Given the description of an element on the screen output the (x, y) to click on. 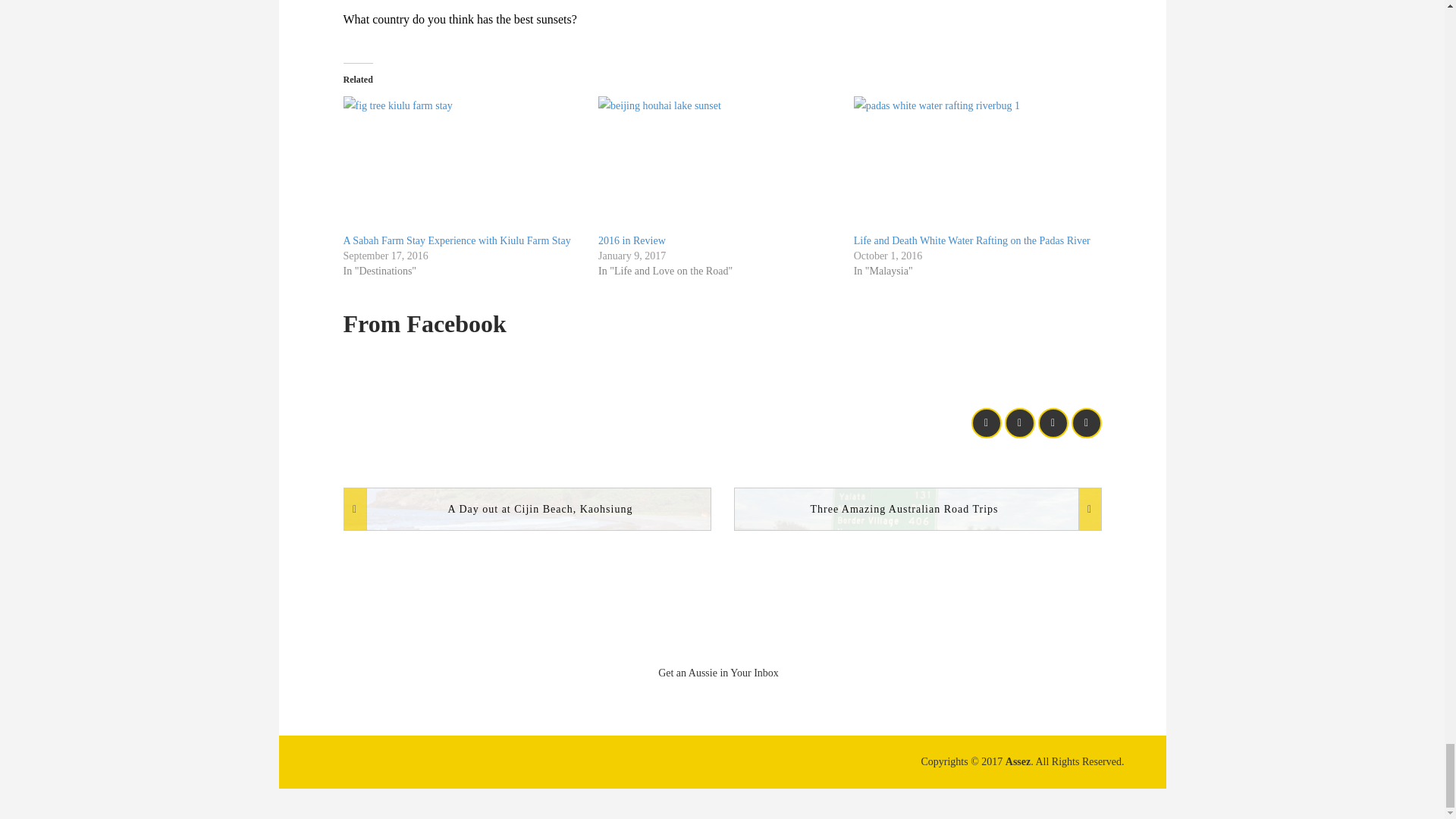
Life and Death White Water Rafting on the Padas River (971, 240)
2016 in Review (718, 164)
A Sabah Farm Stay Experience with Kiulu Farm Stay (456, 240)
2016 in Review (631, 240)
A Sabah Farm Stay Experience with Kiulu Farm Stay (462, 164)
Life and Death White Water Rafting on the Padas River (973, 164)
